Given the description of an element on the screen output the (x, y) to click on. 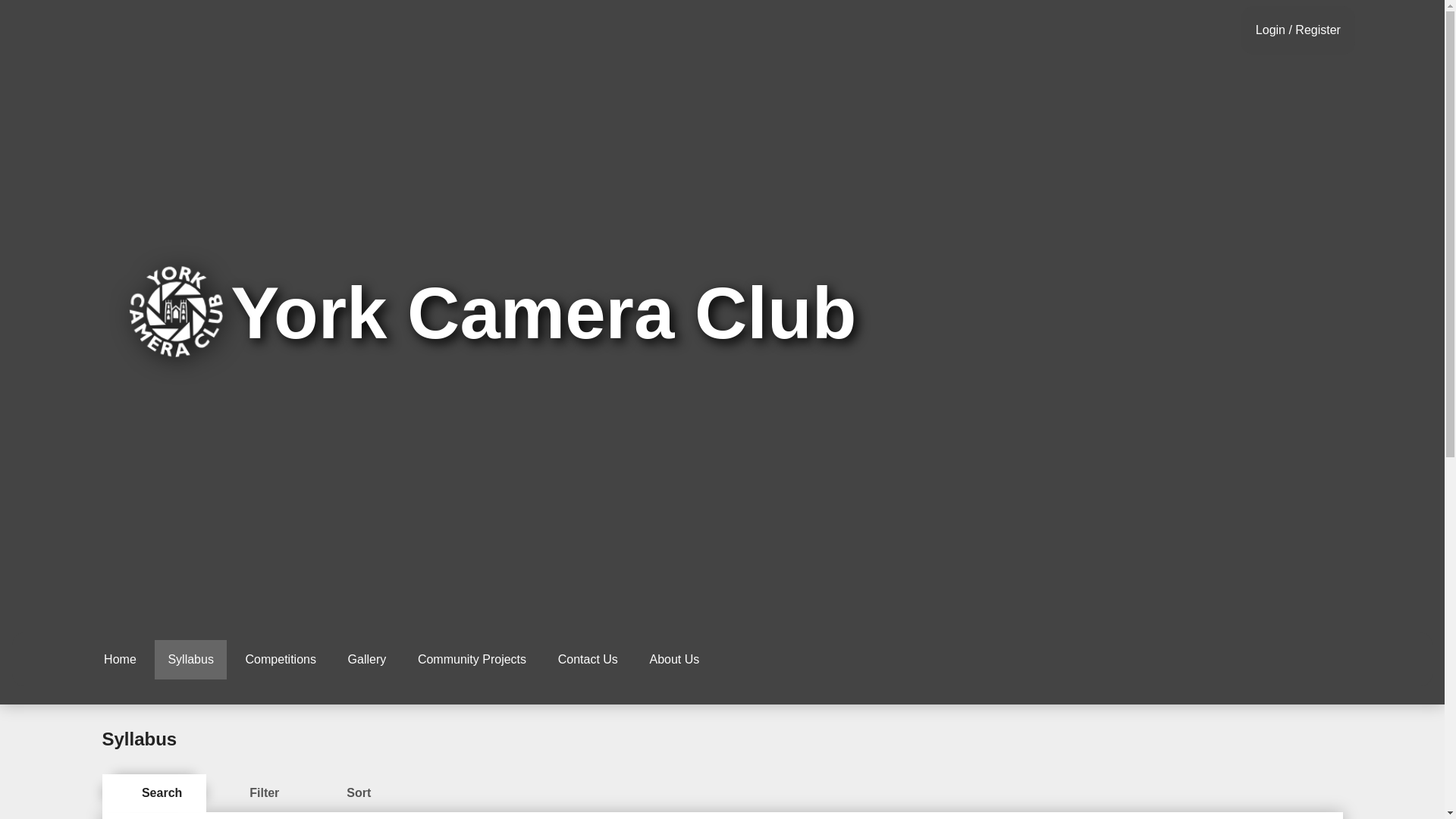
Home (119, 659)
Competitions (280, 659)
Gallery (366, 659)
Community Projects (471, 659)
Navigate Home (176, 312)
Syllabus (189, 659)
Contact Us (587, 659)
About Us (673, 659)
